Given the description of an element on the screen output the (x, y) to click on. 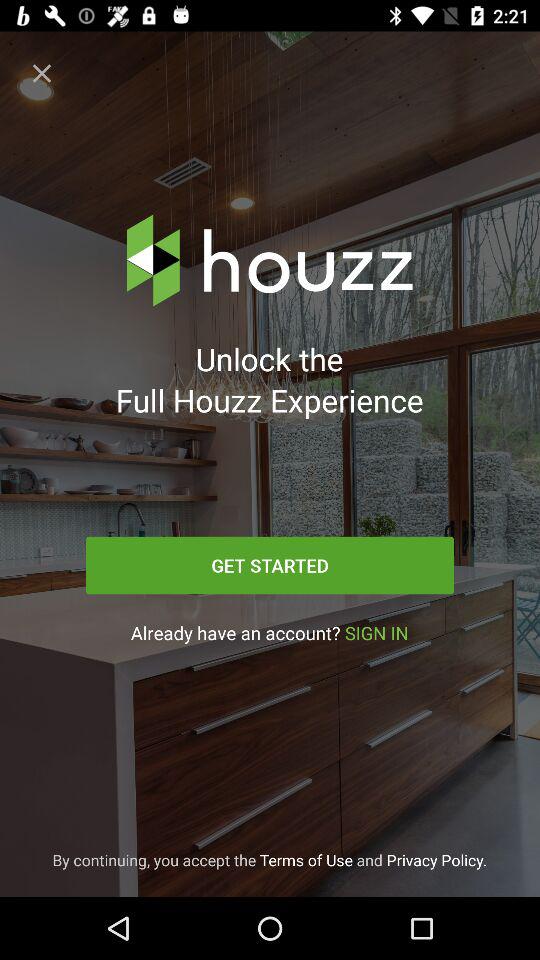
turn off the icon below the already have an icon (269, 859)
